Given the description of an element on the screen output the (x, y) to click on. 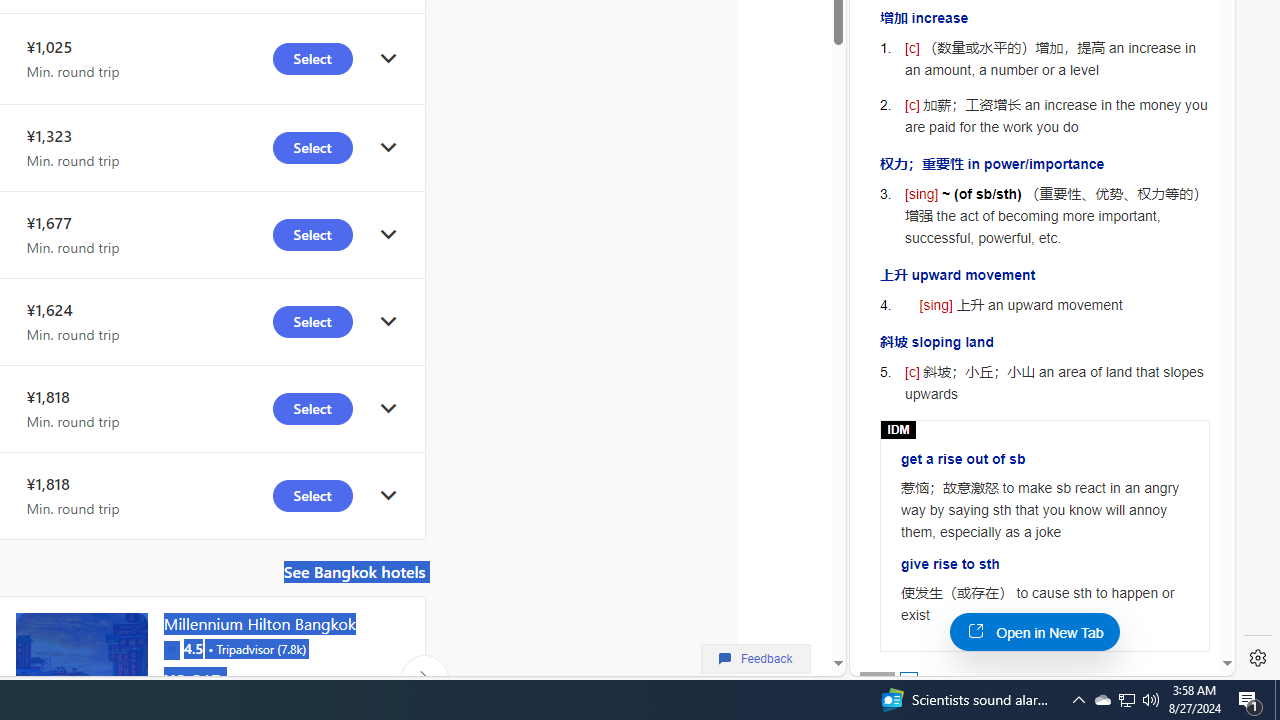
Tripadvisor (171, 648)
AutomationID: posbtn_1 (908, 680)
click to get details (388, 494)
